Given the description of an element on the screen output the (x, y) to click on. 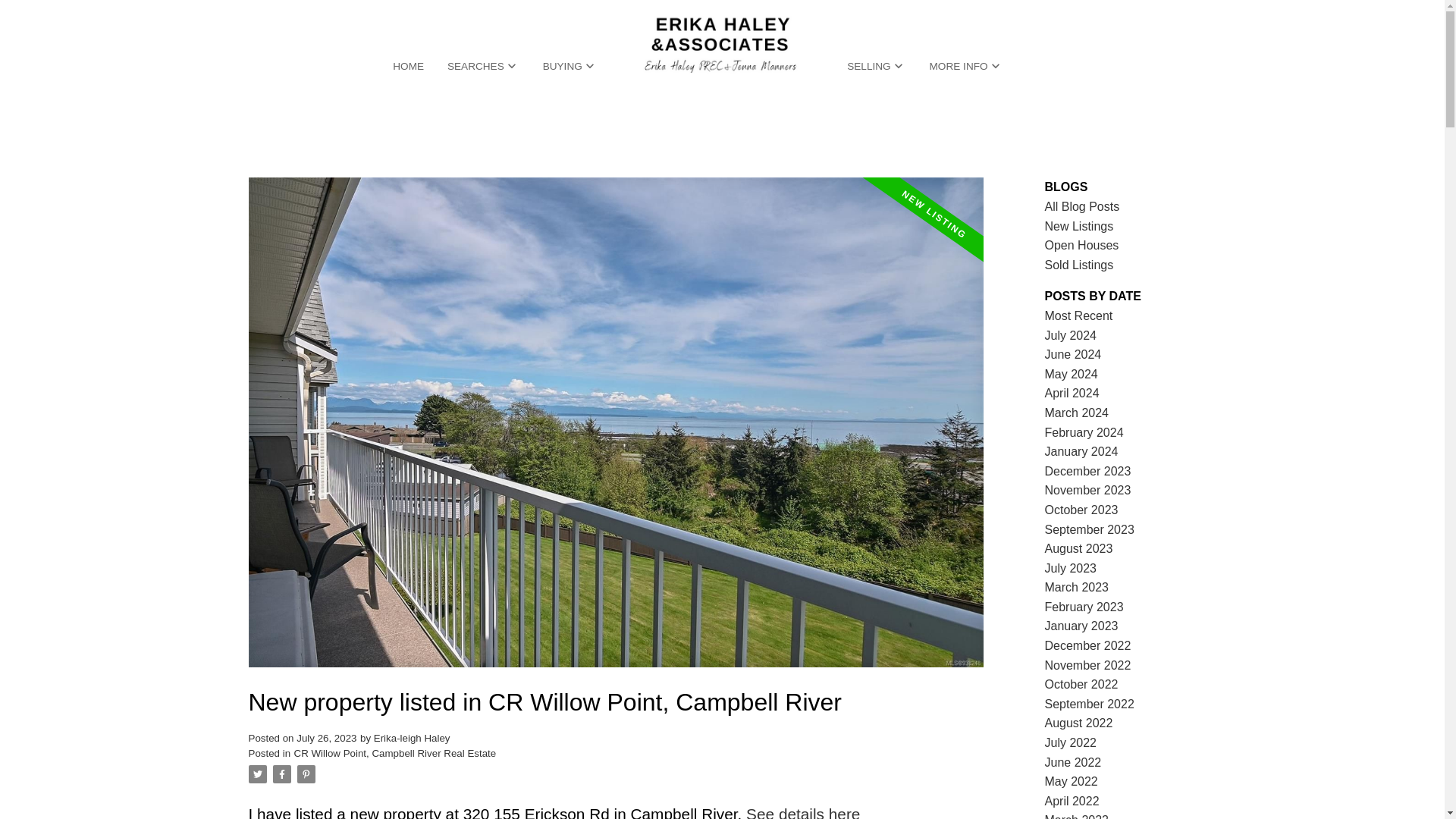
HOME (408, 66)
